Given the description of an element on the screen output the (x, y) to click on. 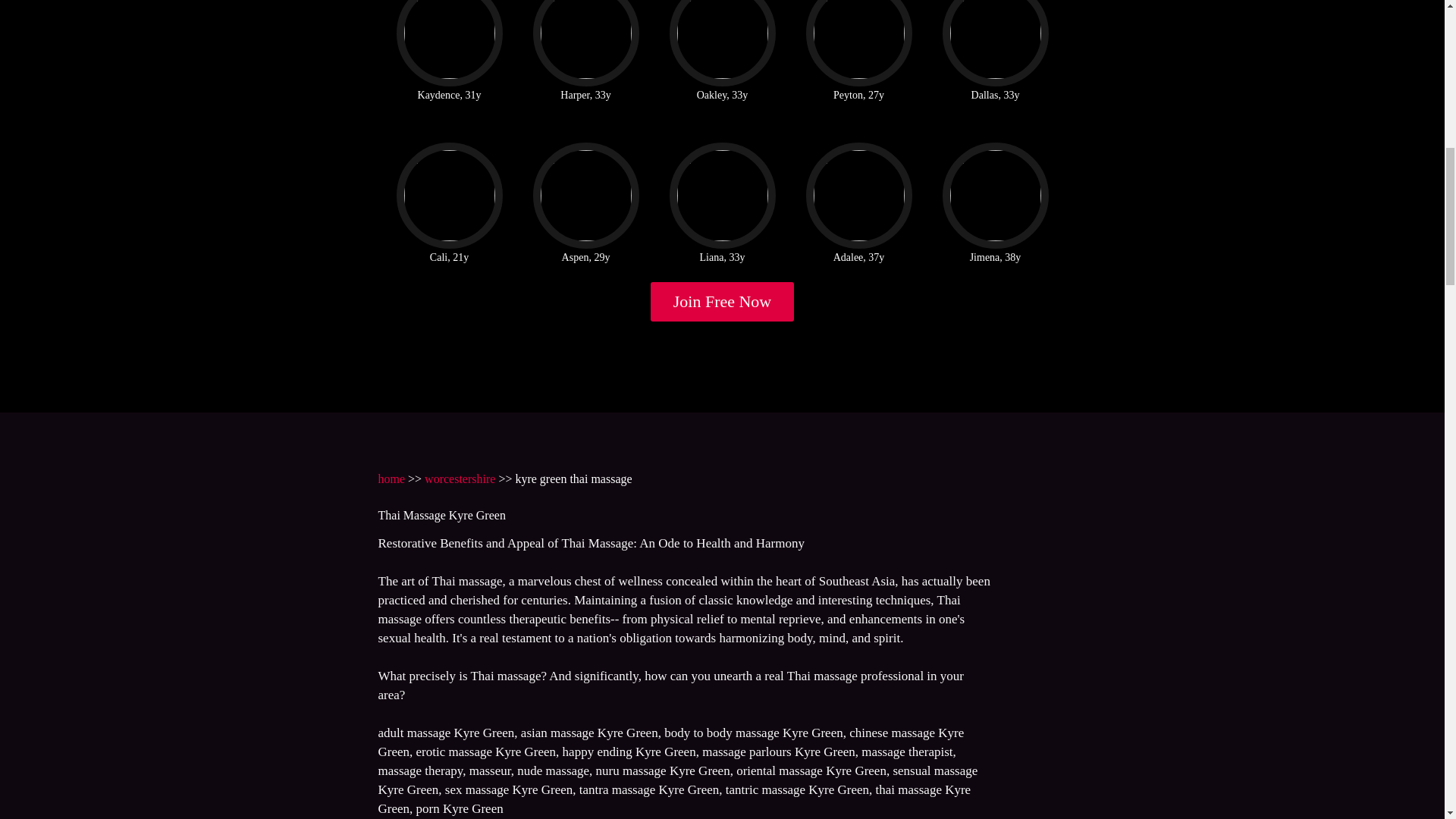
home (390, 478)
worcestershire (460, 478)
Join (722, 301)
Join Free Now (722, 301)
